Given the description of an element on the screen output the (x, y) to click on. 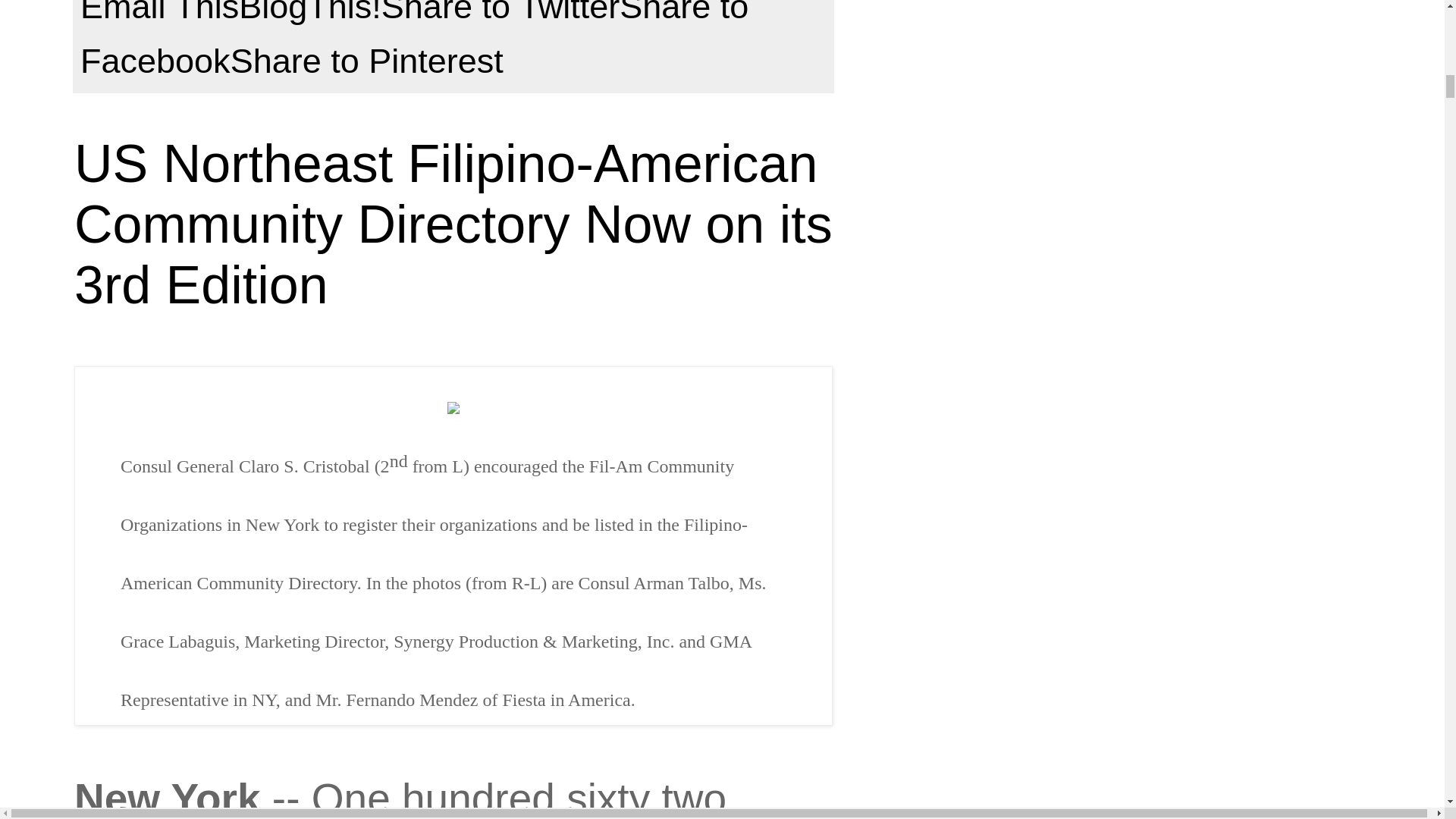
BlogThis! (309, 12)
Share to Pinterest (366, 60)
Email This (159, 12)
Share to Twitter (500, 12)
Share to Facebook (414, 40)
Share to Facebook (414, 40)
Share to Twitter (500, 12)
Share to Pinterest (366, 60)
Email This (159, 12)
BlogThis! (309, 12)
